Given the description of an element on the screen output the (x, y) to click on. 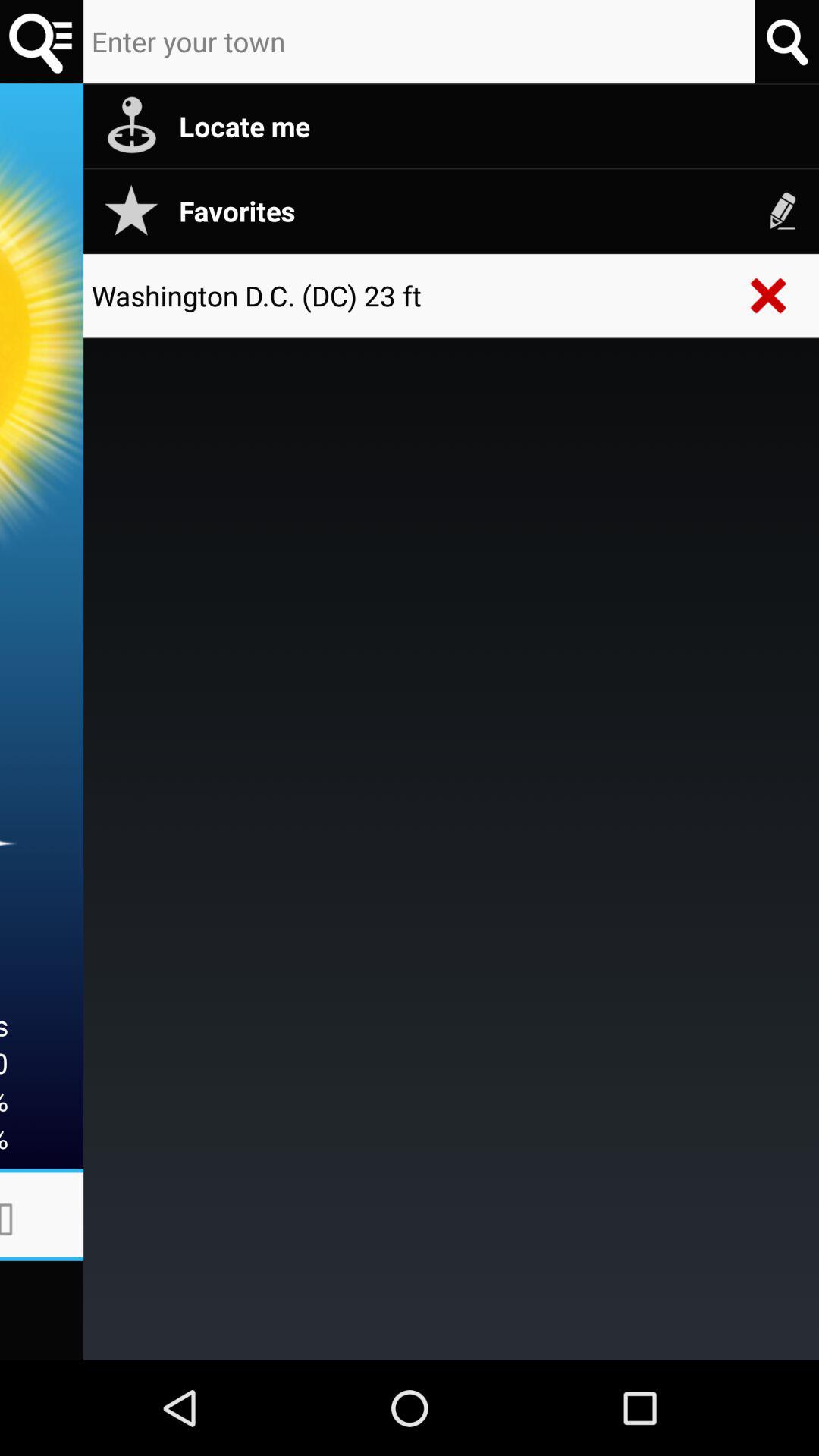
choose item above the locate me app (787, 41)
